Given the description of an element on the screen output the (x, y) to click on. 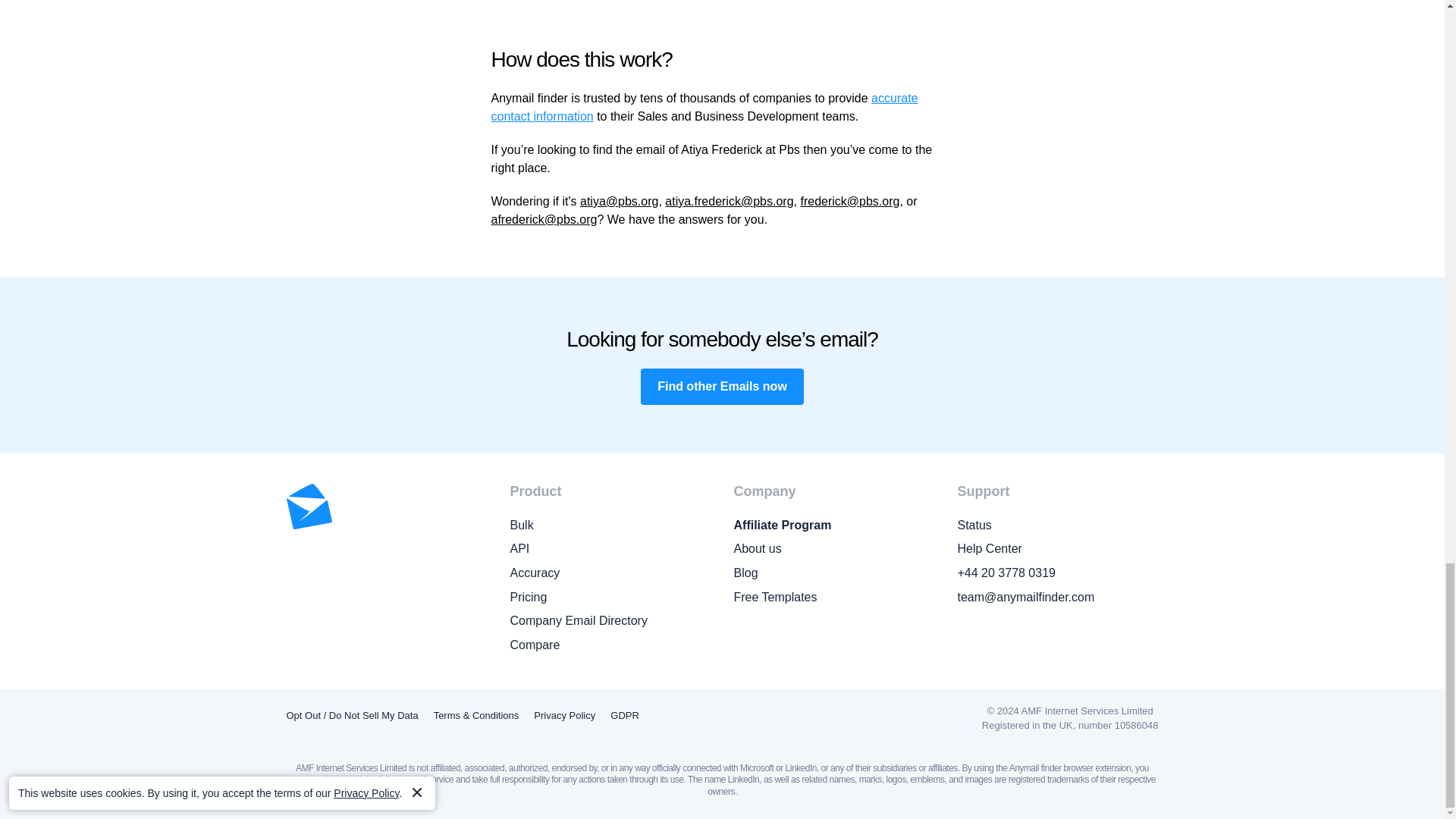
About us (833, 548)
Company Email Directory (609, 620)
Help Center (1056, 548)
Find other Emails now (721, 386)
Affiliate Program (833, 525)
accurate contact information (705, 106)
Free Templates (833, 597)
Compare (609, 645)
Blog (833, 573)
API (609, 548)
Status (1056, 525)
Pricing (609, 597)
Bulk (609, 525)
Accuracy (609, 573)
